Given the description of an element on the screen output the (x, y) to click on. 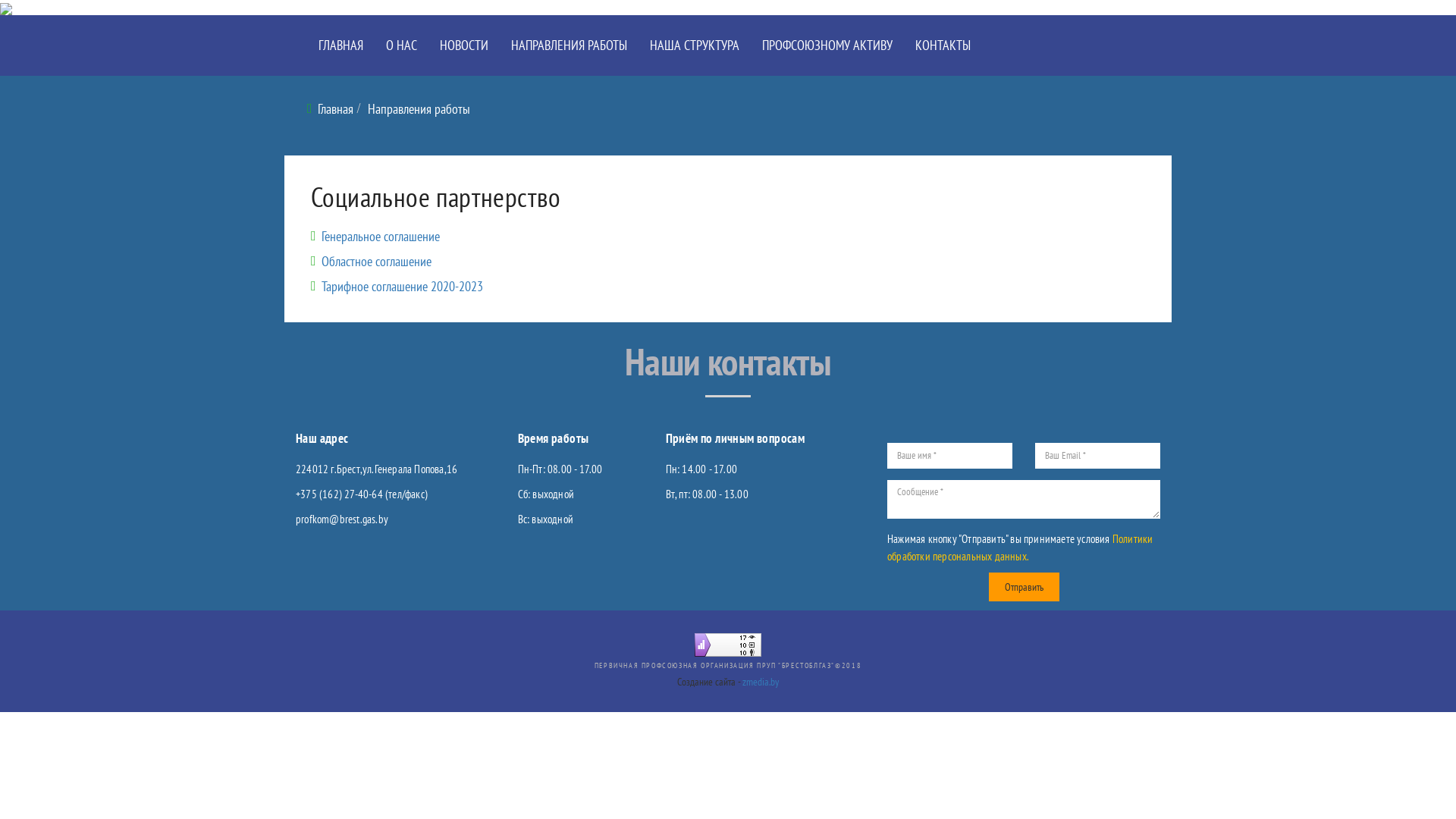
zmedia.by Element type: text (760, 681)
